Given the description of an element on the screen output the (x, y) to click on. 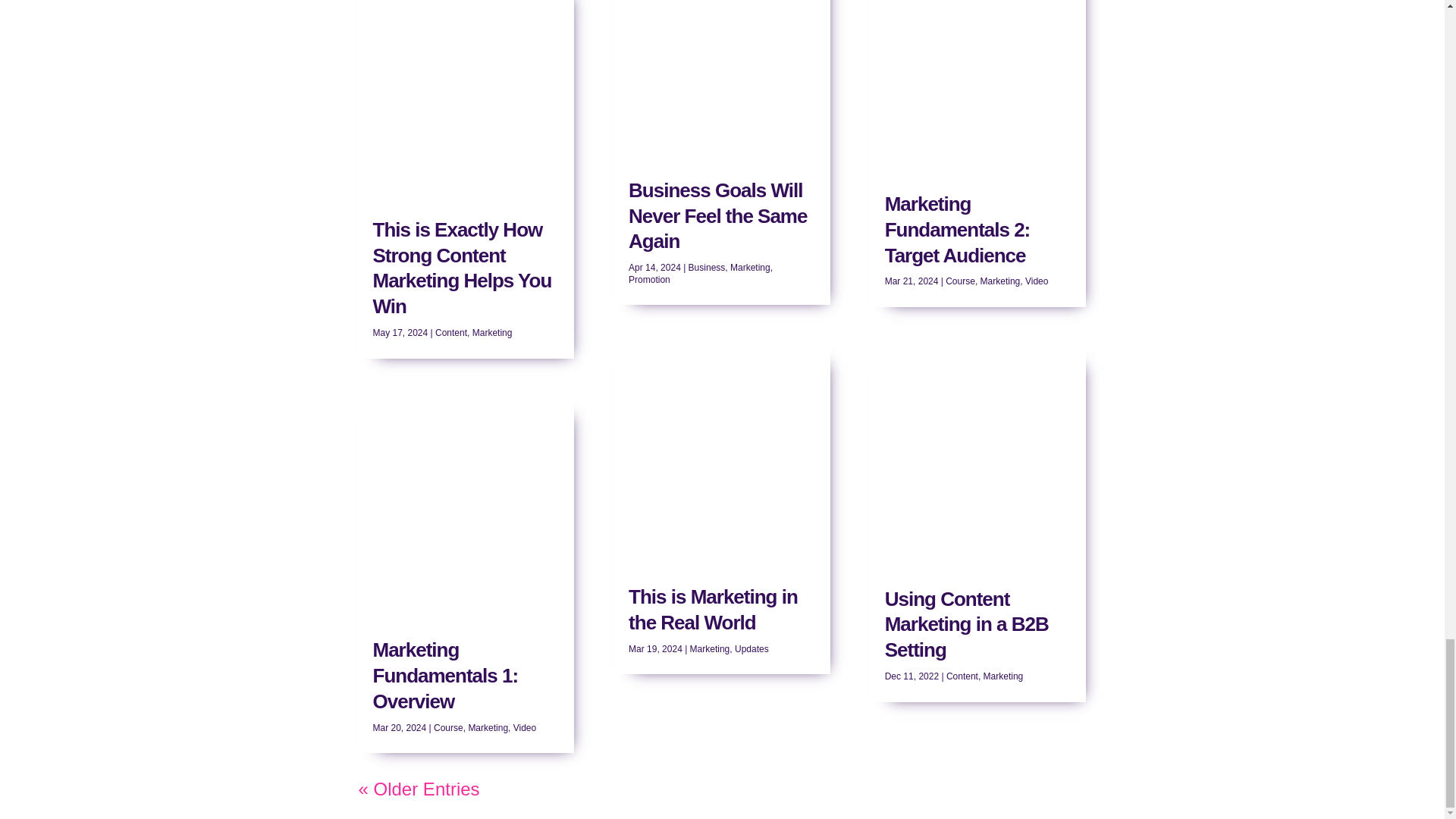
Marketing (710, 648)
Business Goals Will Never Feel the Same Again (717, 216)
Updates (751, 648)
Marketing (487, 727)
Marketing (491, 332)
Marketing Fundamentals 1: Overview (445, 675)
Course (448, 727)
Video (524, 727)
Marketing (750, 267)
This is Exactly How Strong Content Marketing Helps You Win (461, 267)
